Given the description of an element on the screen output the (x, y) to click on. 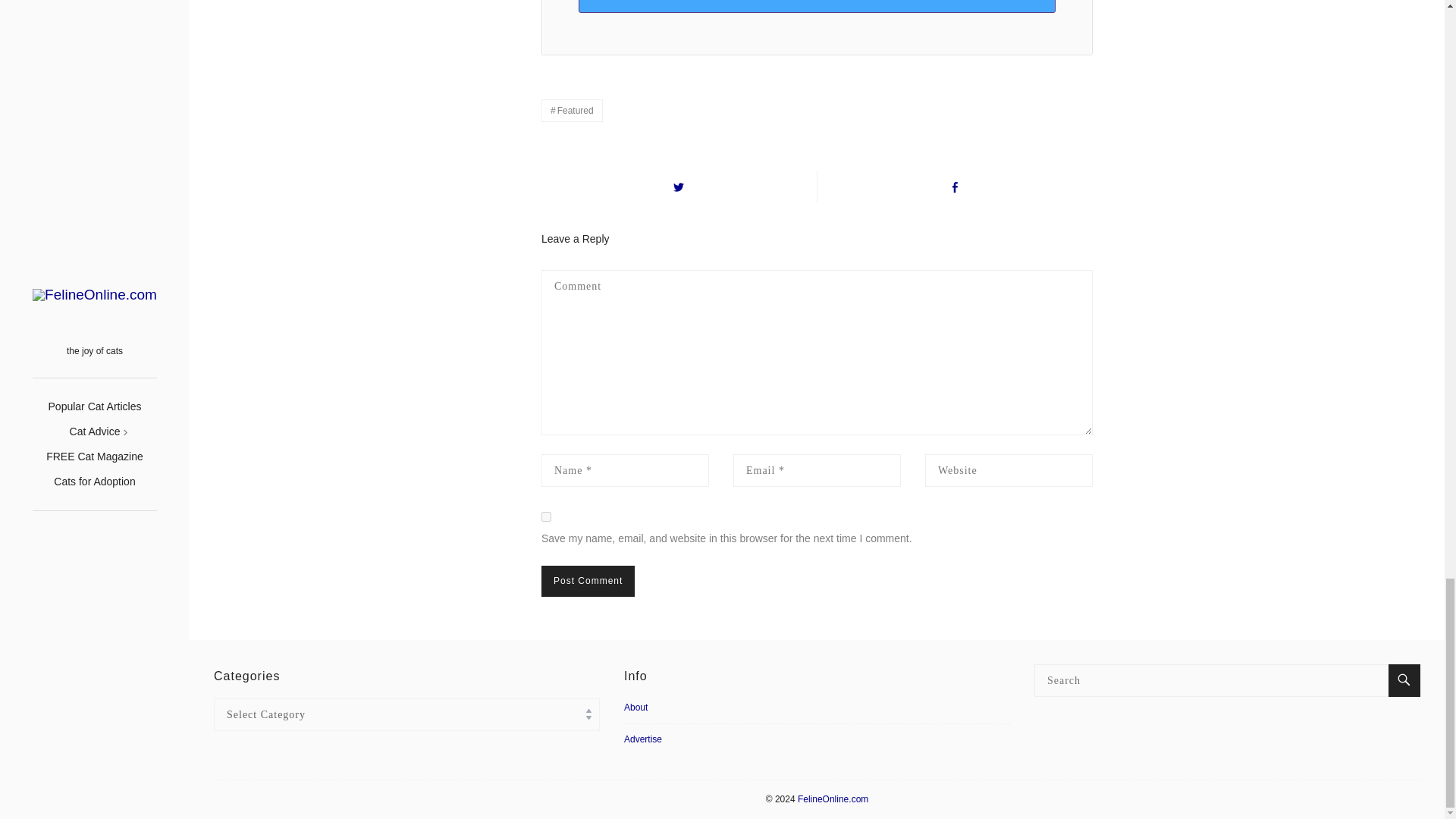
yes (546, 516)
About (635, 710)
Featured (571, 110)
FelineOnline.com (832, 798)
Post Comment (587, 581)
Share on Facebook (954, 186)
Advertise (643, 739)
Search (1405, 680)
Share on Twitter (678, 186)
Post Comment (587, 581)
